Given the description of an element on the screen output the (x, y) to click on. 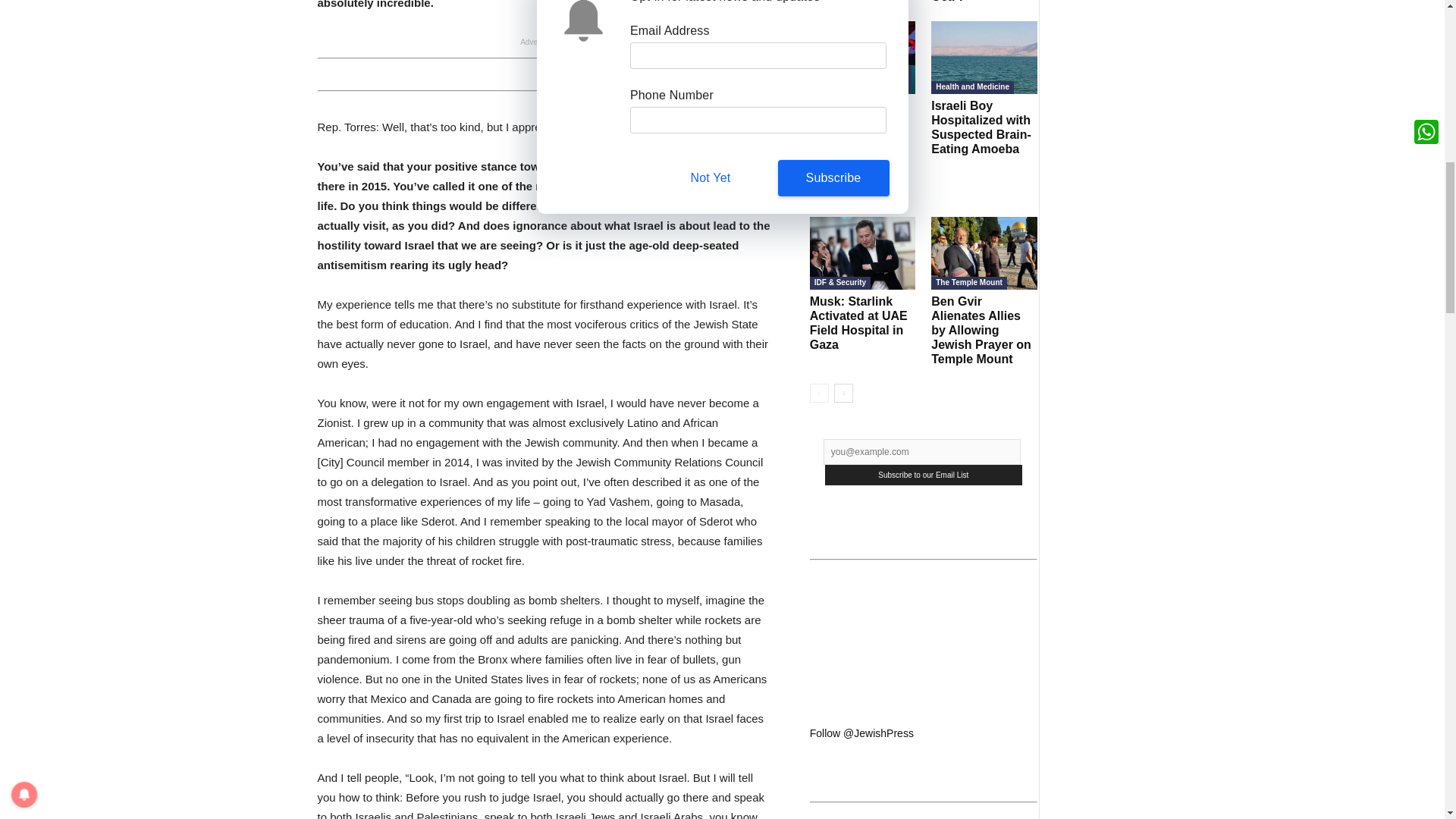
Subscribe to our Email List (923, 475)
